Given the description of an element on the screen output the (x, y) to click on. 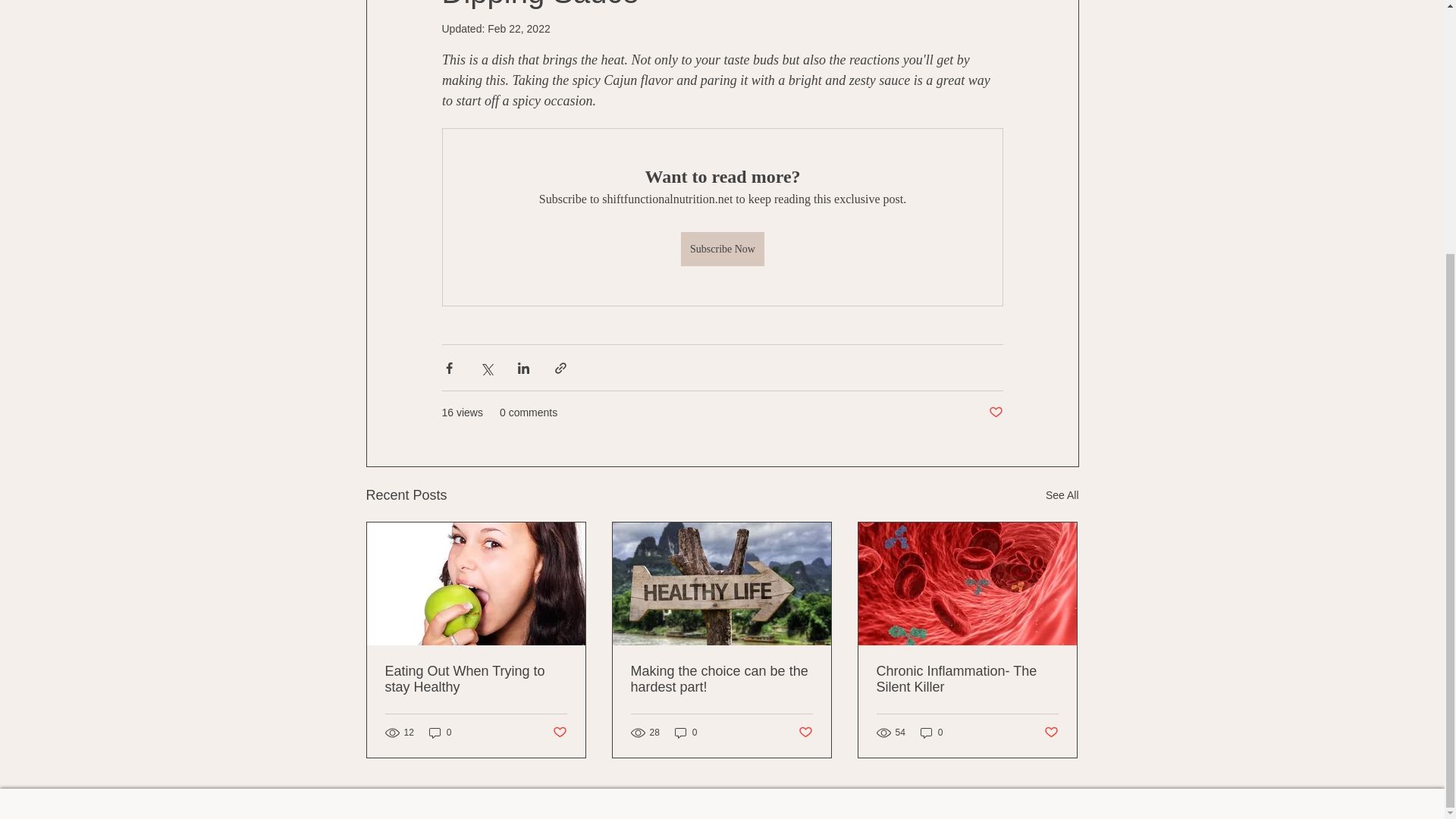
Post not marked as liked (995, 412)
Post not marked as liked (804, 732)
Chronic Inflammation- The Silent Killer (967, 679)
Eating Out When Trying to stay Healthy (476, 679)
0 (931, 731)
0 (685, 731)
See All (1061, 495)
Subscribe Now (722, 248)
Post not marked as liked (1050, 732)
0 (440, 731)
Feb 22, 2022 (518, 28)
Post not marked as liked (558, 732)
Making the choice can be the hardest part! (721, 679)
